Given the description of an element on the screen output the (x, y) to click on. 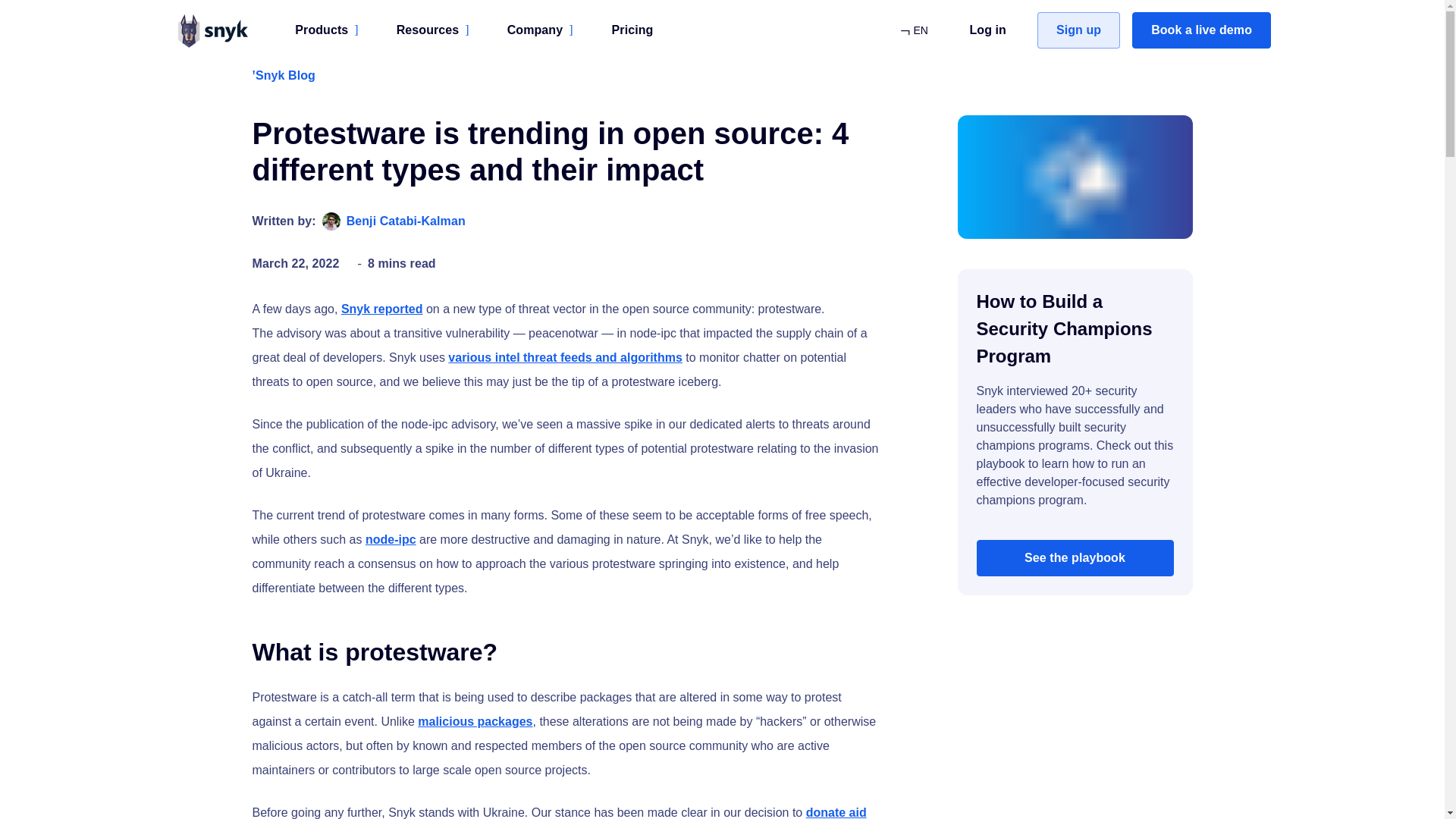
Log in (987, 30)
Sign up (1077, 30)
Sign up (1077, 30)
Book a live demo (1201, 30)
Select your language (913, 30)
Log in (987, 30)
Book a live demo (1201, 30)
Snyk Blog (282, 75)
Pricing (632, 29)
